Given the description of an element on the screen output the (x, y) to click on. 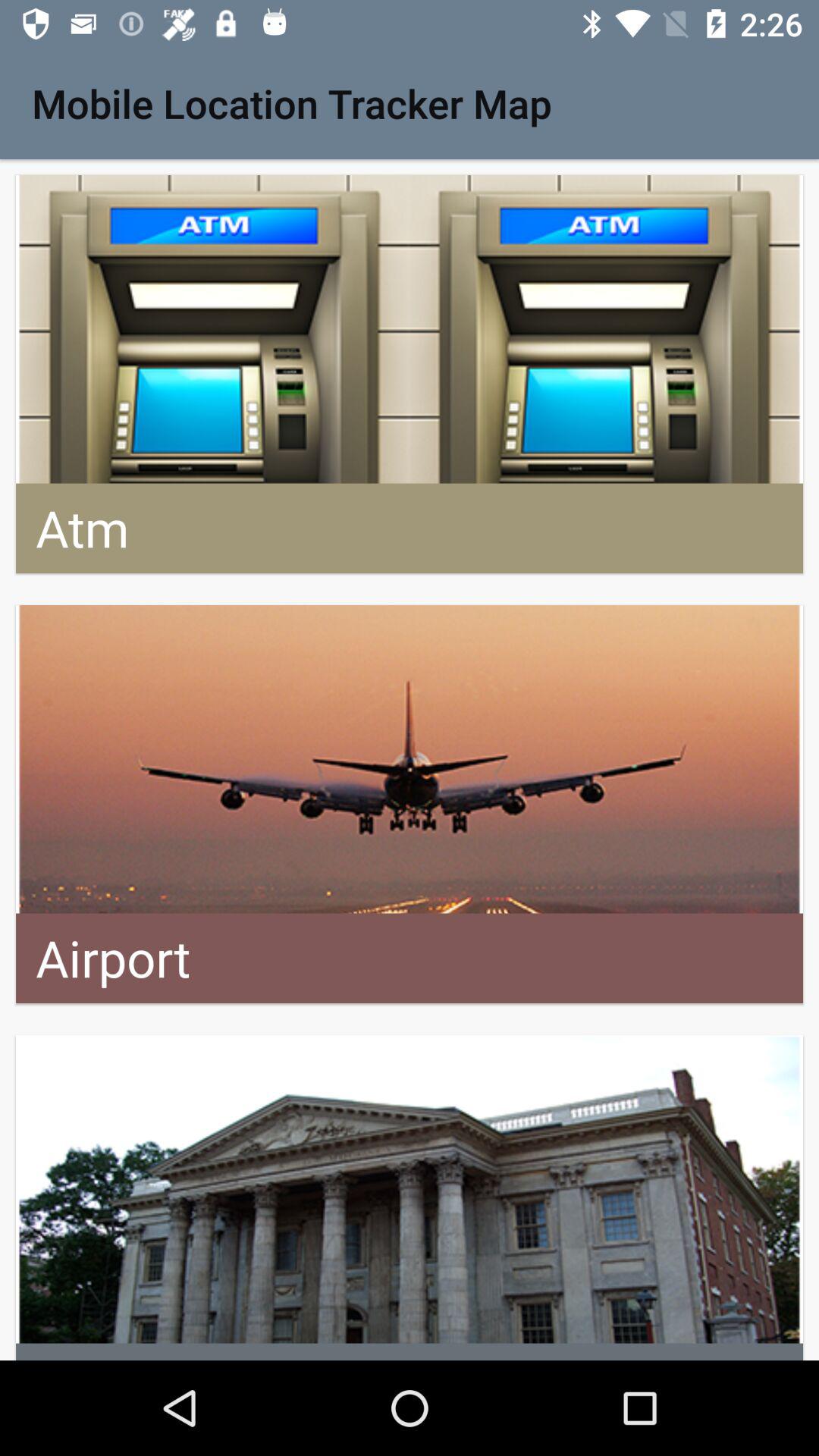
atm (409, 374)
